Given the description of an element on the screen output the (x, y) to click on. 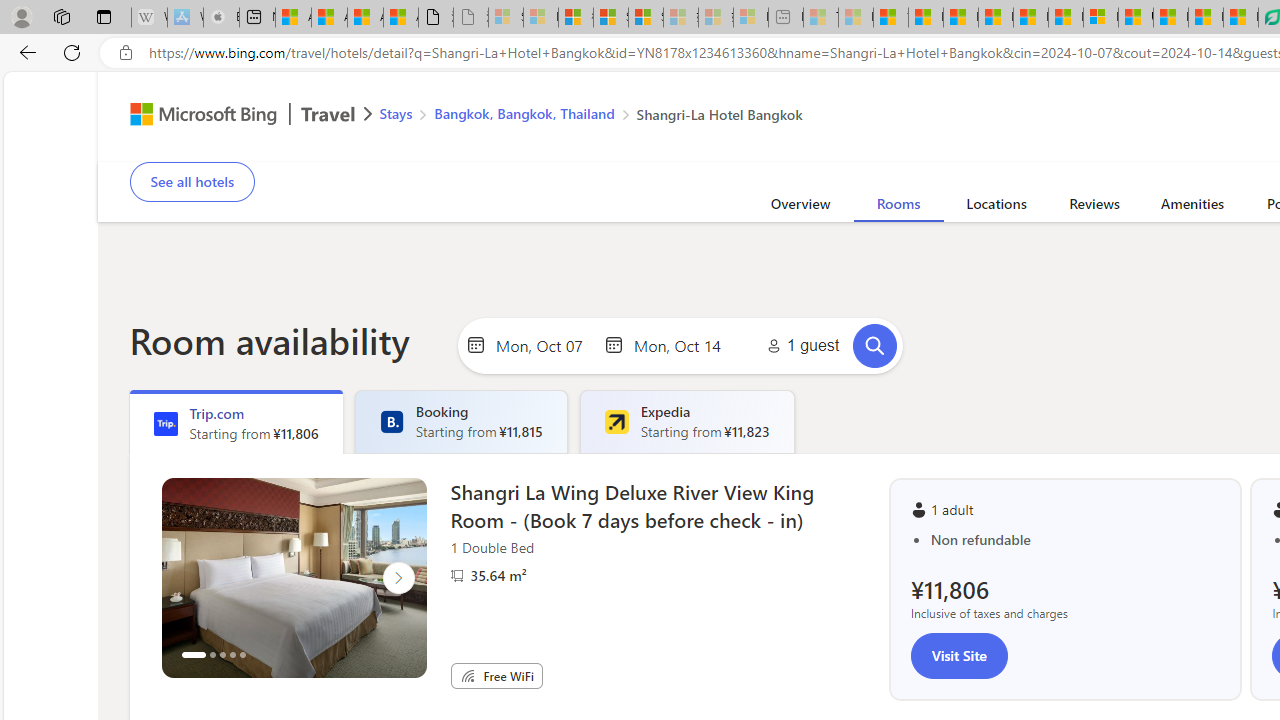
Microsoft Services Agreement - Sleeping (540, 17)
Amenities (1191, 207)
Non refundable (1075, 539)
Aberdeen, Hong Kong SAR weather forecast | Microsoft Weather (329, 17)
Class: msft-travel-logo (328, 114)
1 guest (799, 345)
Marine life - MSN - Sleeping (855, 17)
Microsoft Bing (194, 116)
Buy iPad - Apple - Sleeping (221, 17)
TripDotCom (165, 423)
Class: msft-bing-logo msft-bing-logo-desktop (198, 114)
Sign in to your Microsoft account - Sleeping (506, 17)
